Given the description of an element on the screen output the (x, y) to click on. 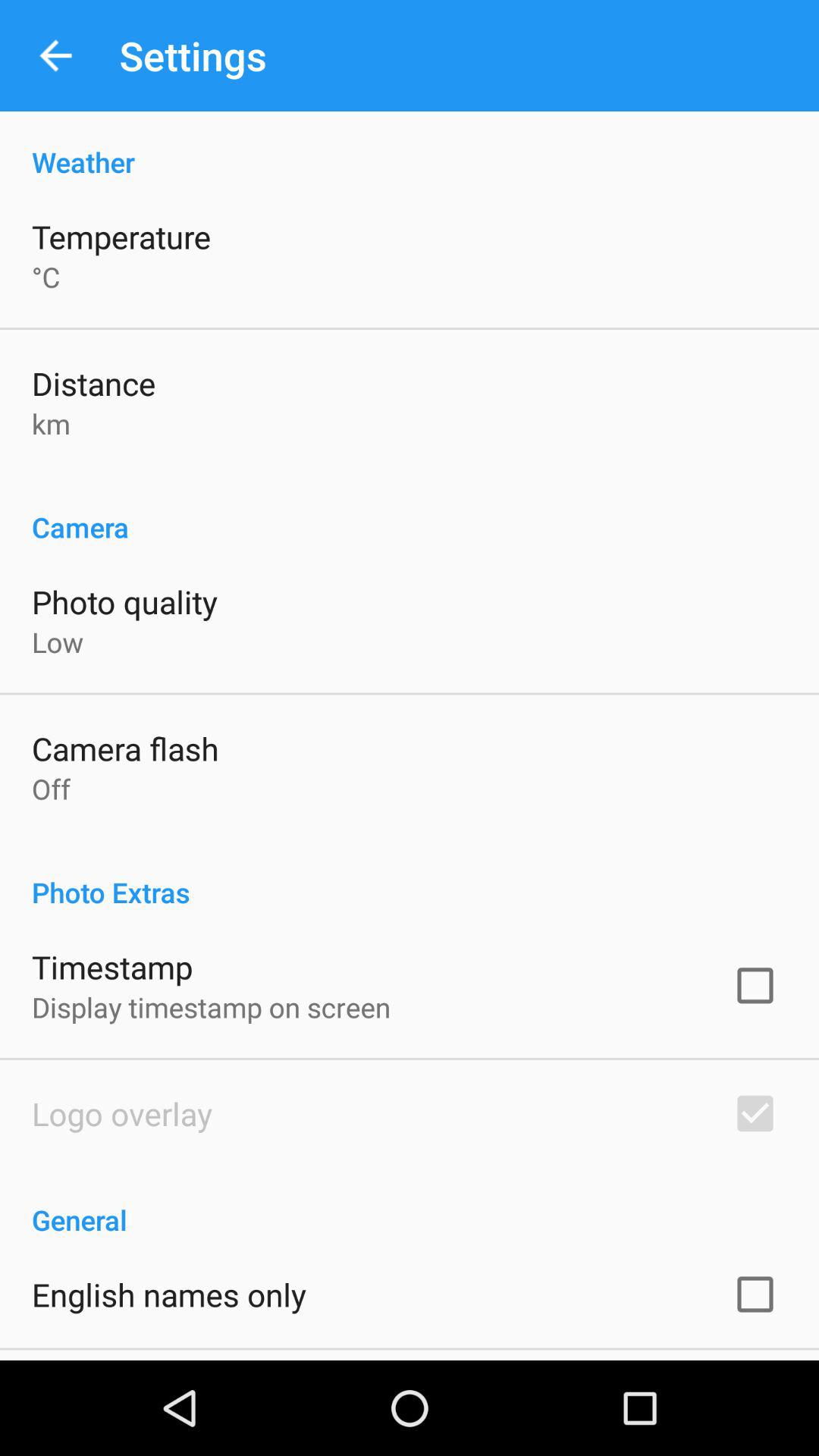
scroll until the camera flash icon (124, 748)
